Given the description of an element on the screen output the (x, y) to click on. 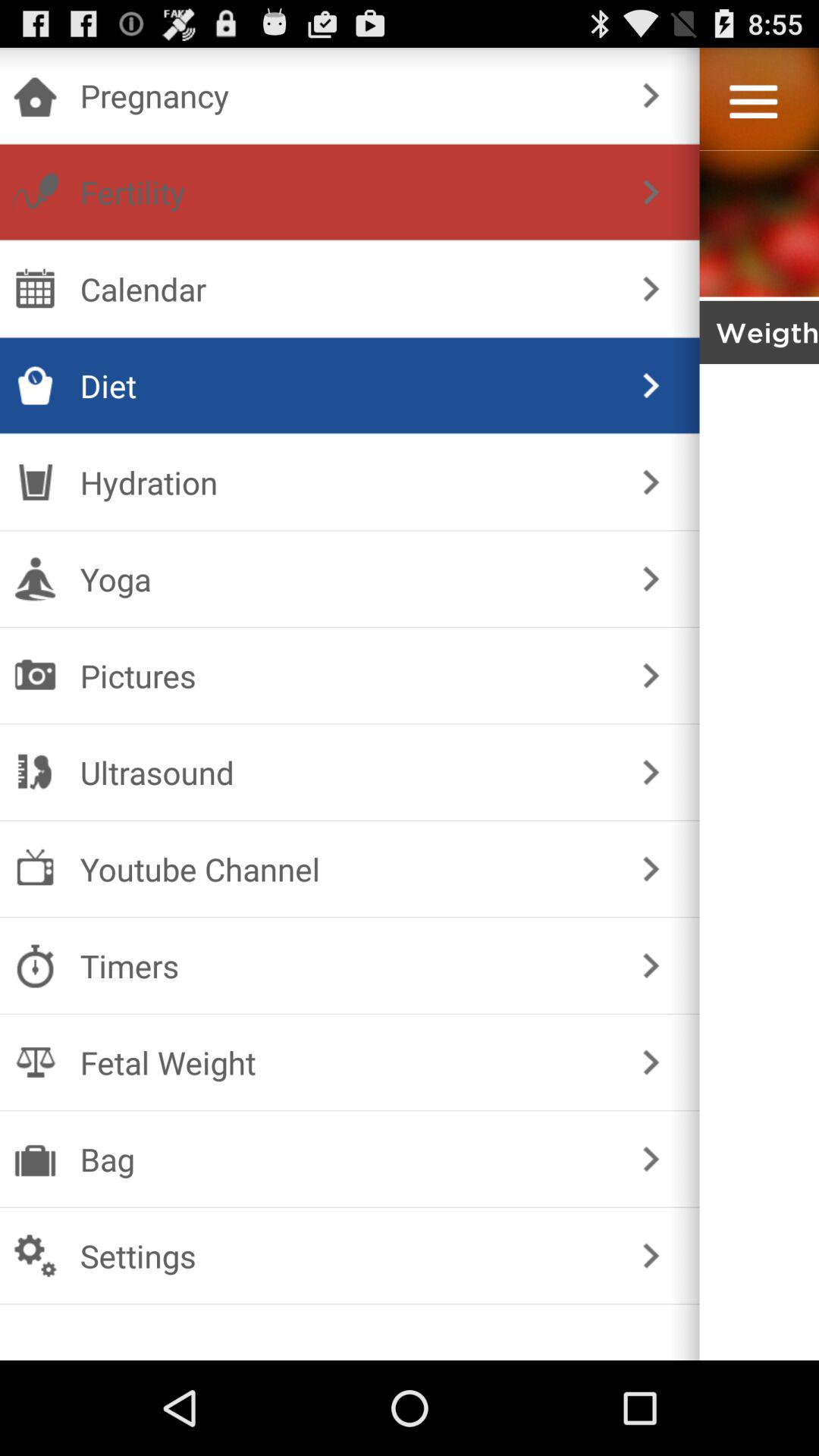
click the ultrasound (346, 771)
